Given the description of an element on the screen output the (x, y) to click on. 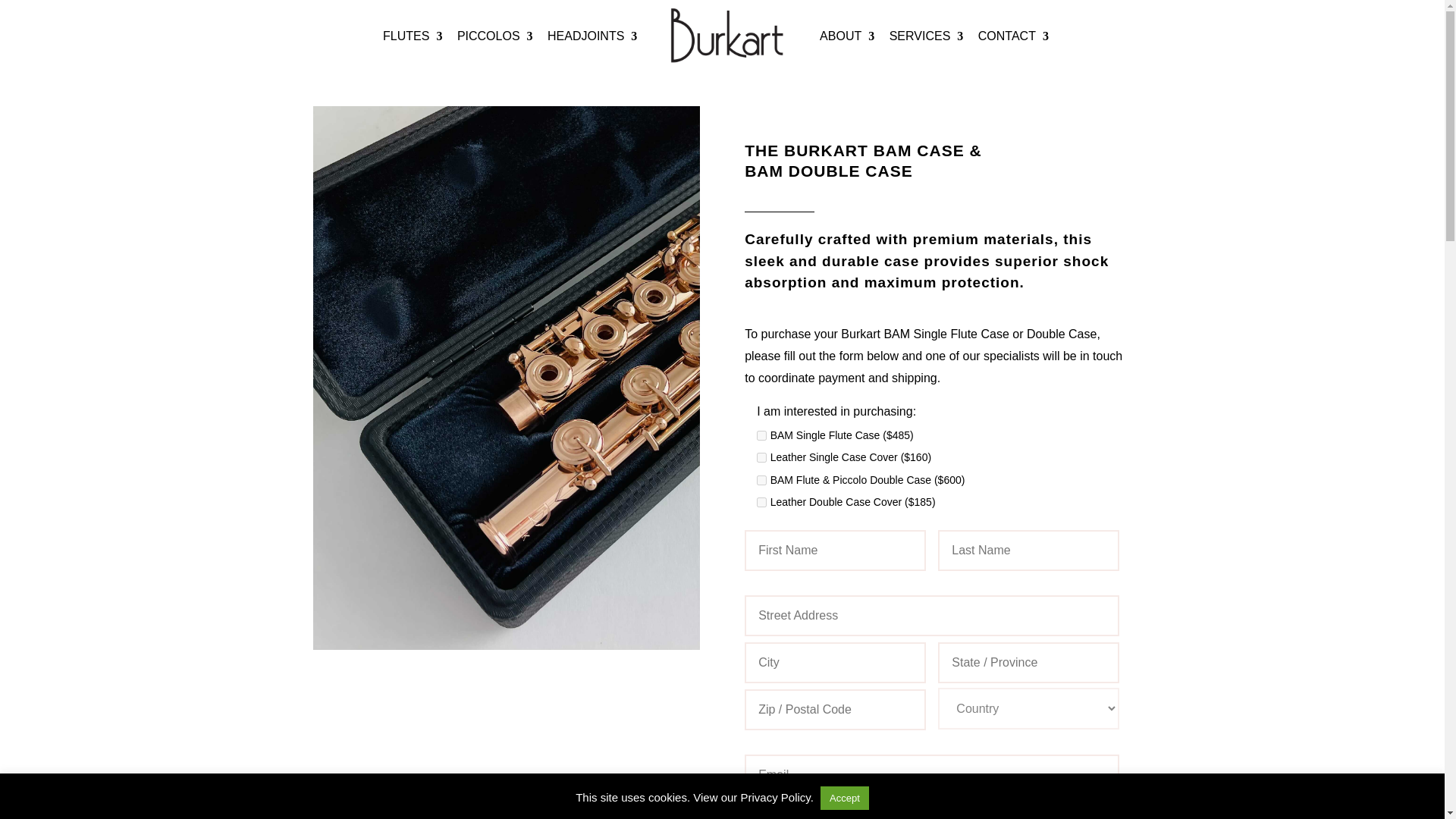
CONTACT (1013, 51)
HEADJOINTS (592, 51)
FLUTES (412, 51)
PICCOLOS (494, 51)
SERVICES (926, 51)
ABOUT (847, 51)
